Given the description of an element on the screen output the (x, y) to click on. 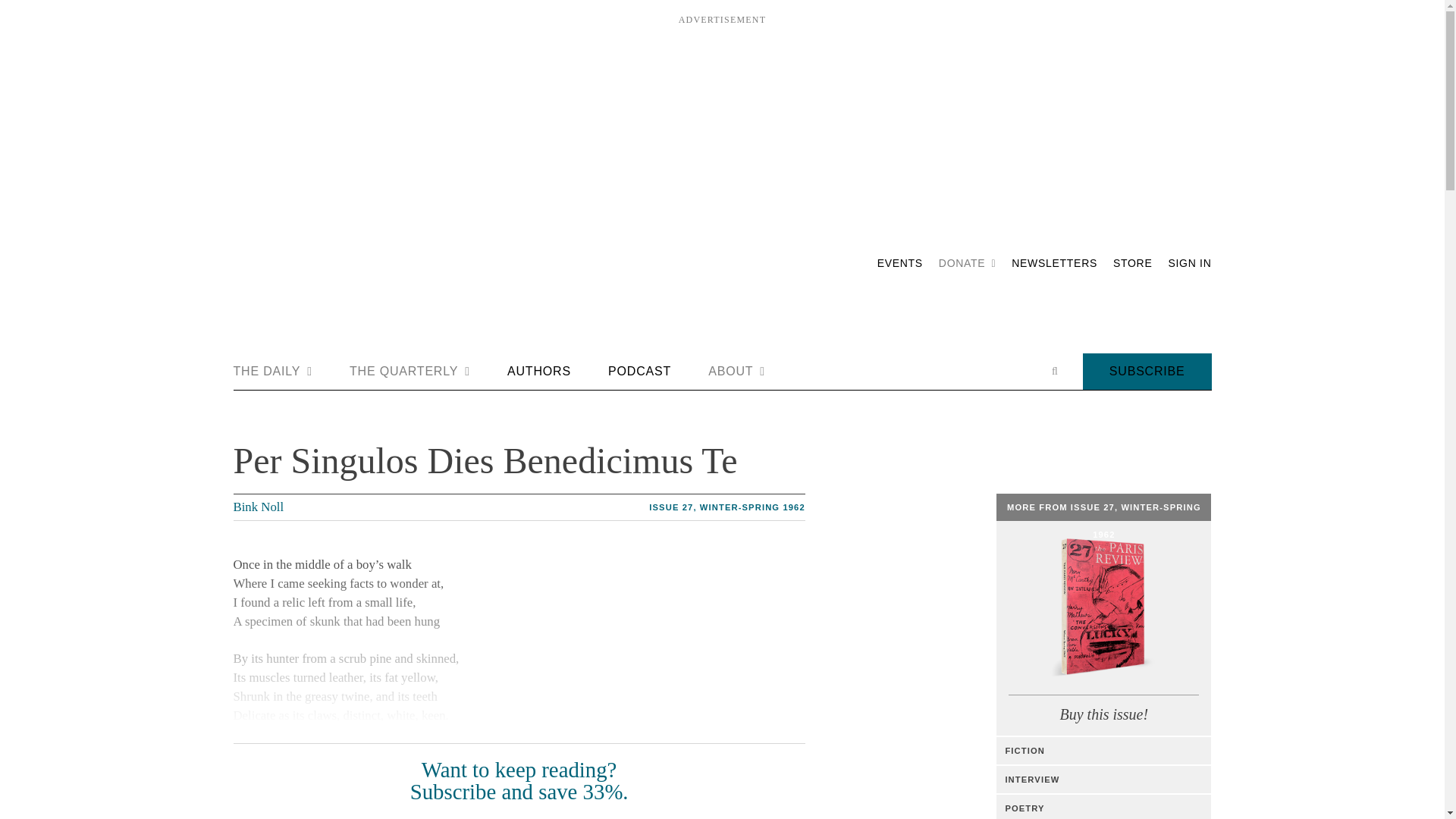
THE QUARTERLY (409, 371)
Open search (1054, 371)
THE DAILY (272, 371)
